Given the description of an element on the screen output the (x, y) to click on. 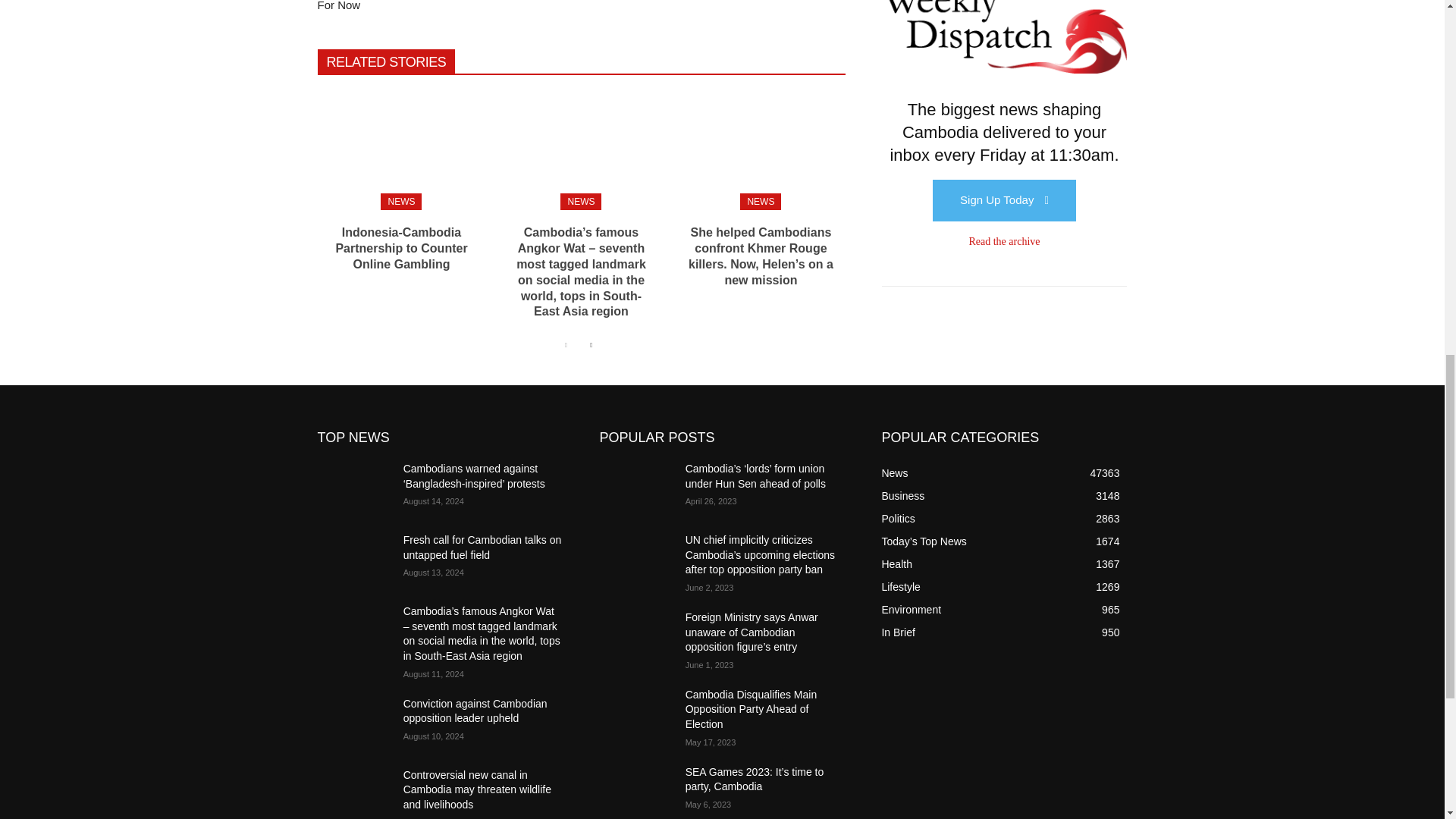
NEWS (401, 201)
Indonesia-Cambodia Partnership to Counter Online Gambling (400, 148)
Indonesia-Cambodia Partnership to Counter Online Gambling (400, 248)
Indonesia-Cambodia Partnership to Counter Online Gambling (400, 248)
NEWS (580, 201)
